Given the description of an element on the screen output the (x, y) to click on. 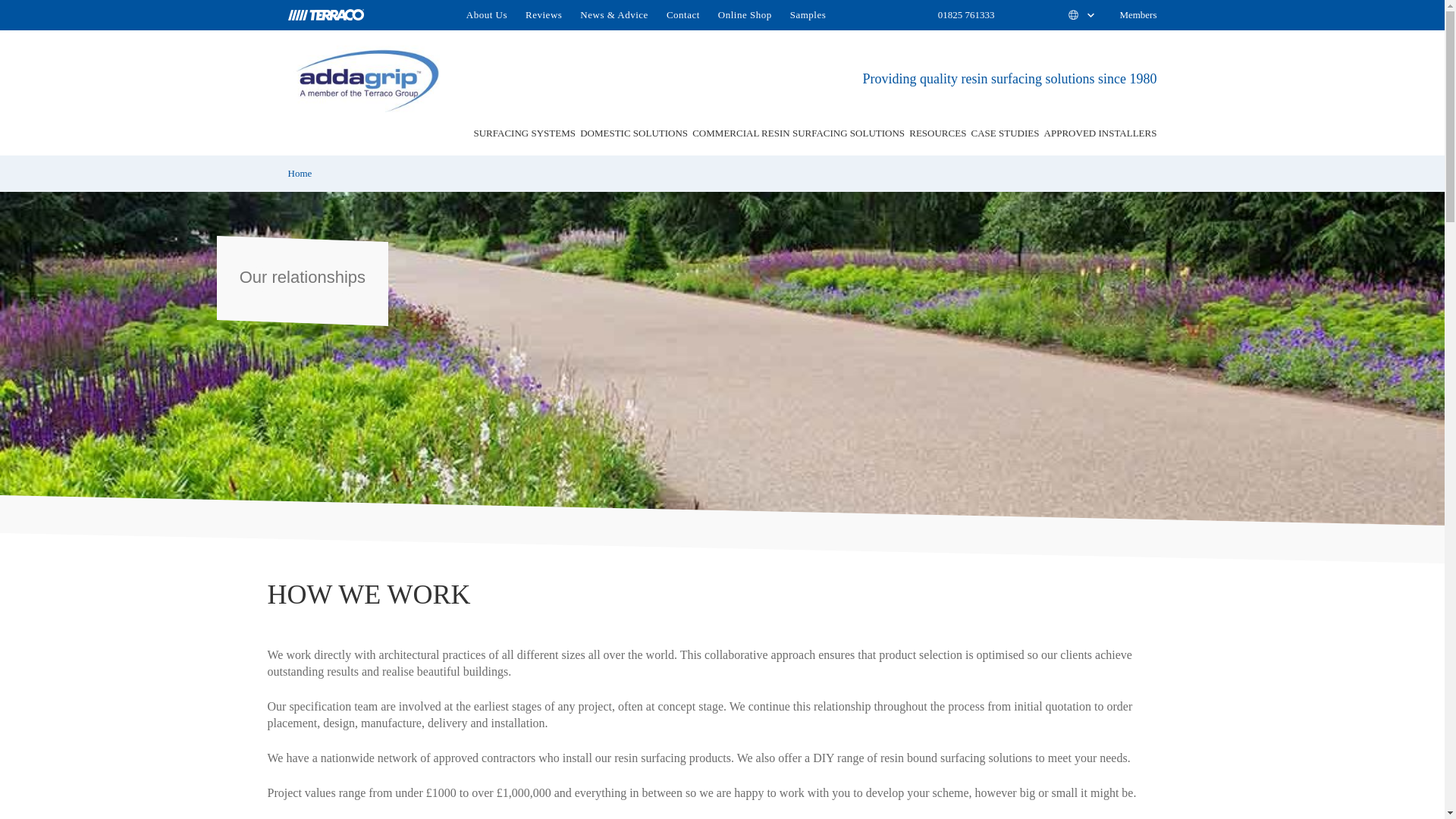
SURFACING SYSTEMS (524, 134)
Contact (683, 15)
Online Shop (744, 15)
About Us (490, 15)
Members Log In (1130, 14)
Samples (807, 15)
Reviews (543, 15)
Members (1130, 14)
01825 761333 (965, 14)
